Given the description of an element on the screen output the (x, y) to click on. 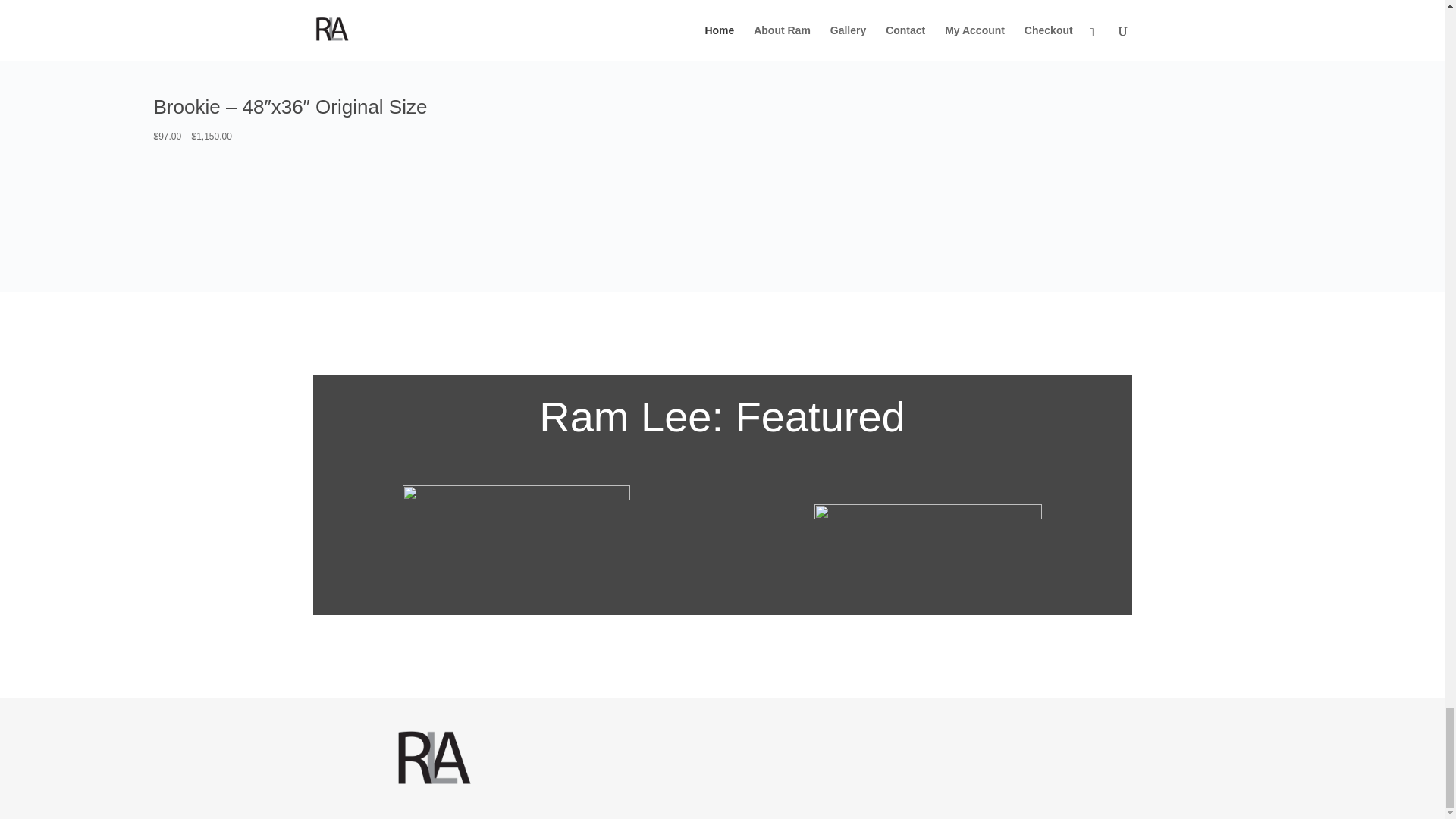
as-ram (516, 540)
